Given the description of an element on the screen output the (x, y) to click on. 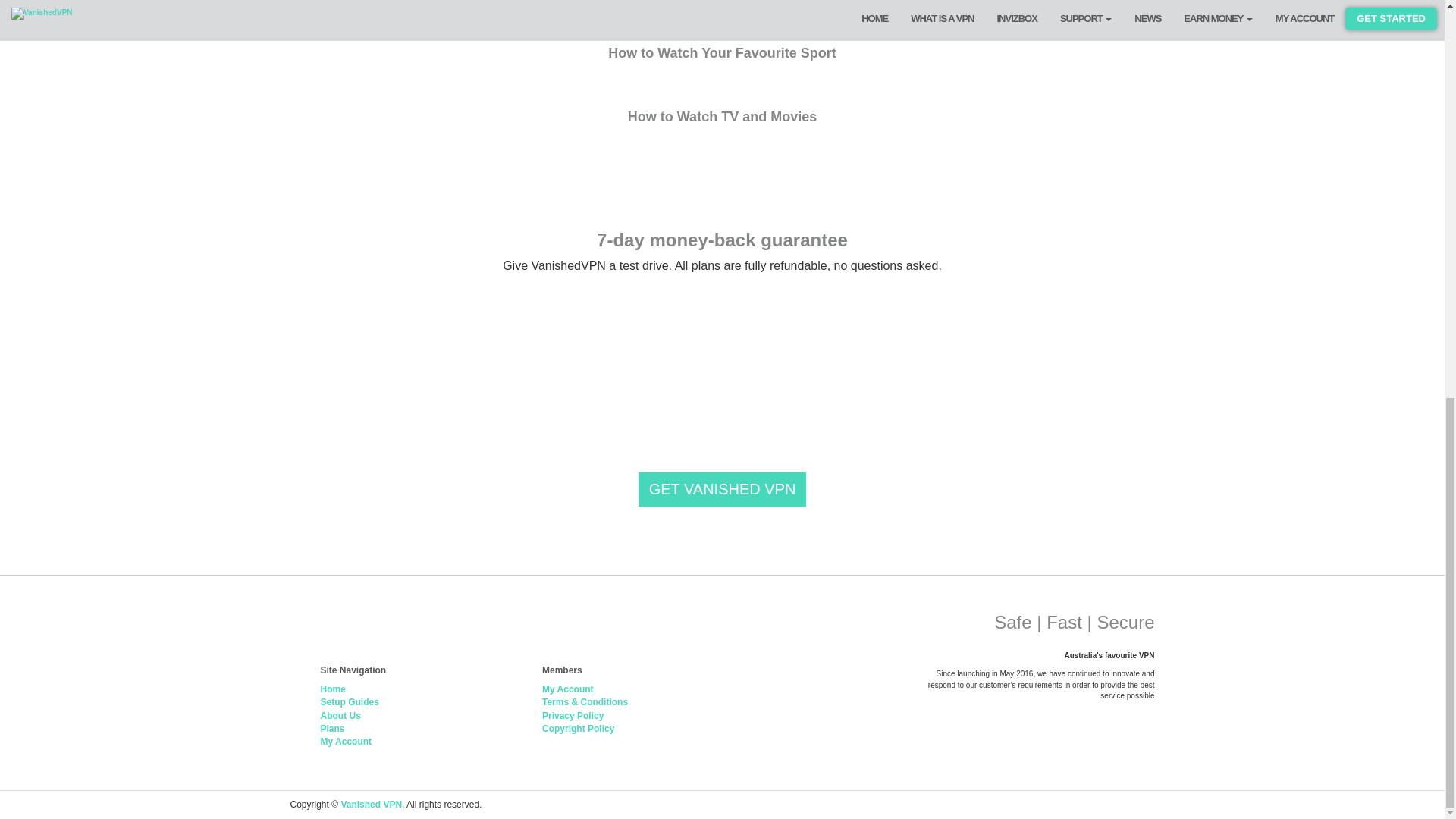
GET VANISHED VPN (722, 489)
Vanished VPN (499, 629)
Vanished VPN (370, 804)
vanishedVPN (349, 629)
